Given the description of an element on the screen output the (x, y) to click on. 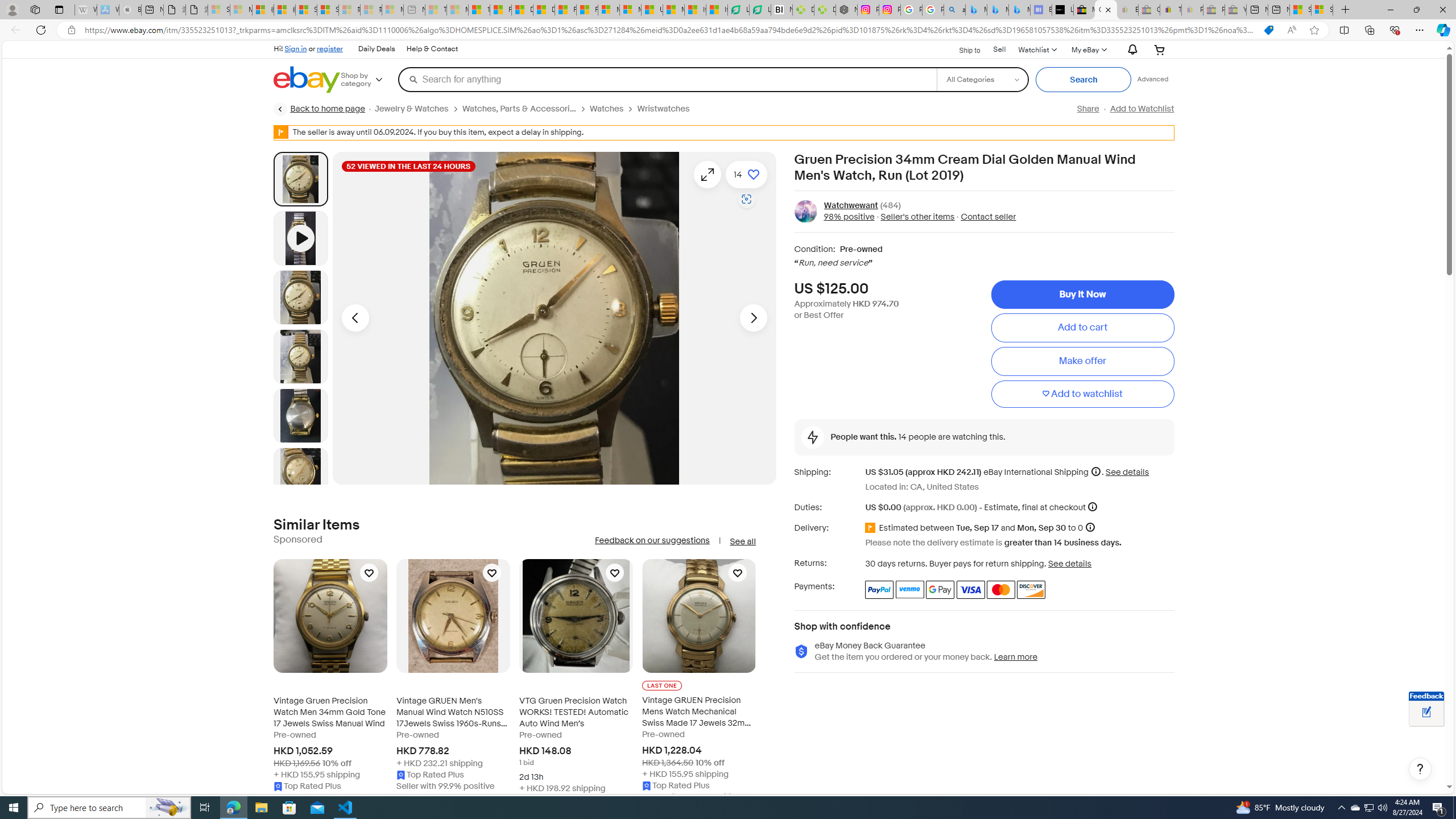
Seller's other items (917, 216)
Shop by category (368, 79)
Microsoft Bing Travel - Shangri-La Hotel Bangkok (1019, 9)
98% positive (849, 216)
Daily Deals (376, 49)
Video 1 of 1 (300, 238)
Help & Contact (432, 49)
Ship to (962, 48)
Add to cart (1082, 328)
